Given the description of an element on the screen output the (x, y) to click on. 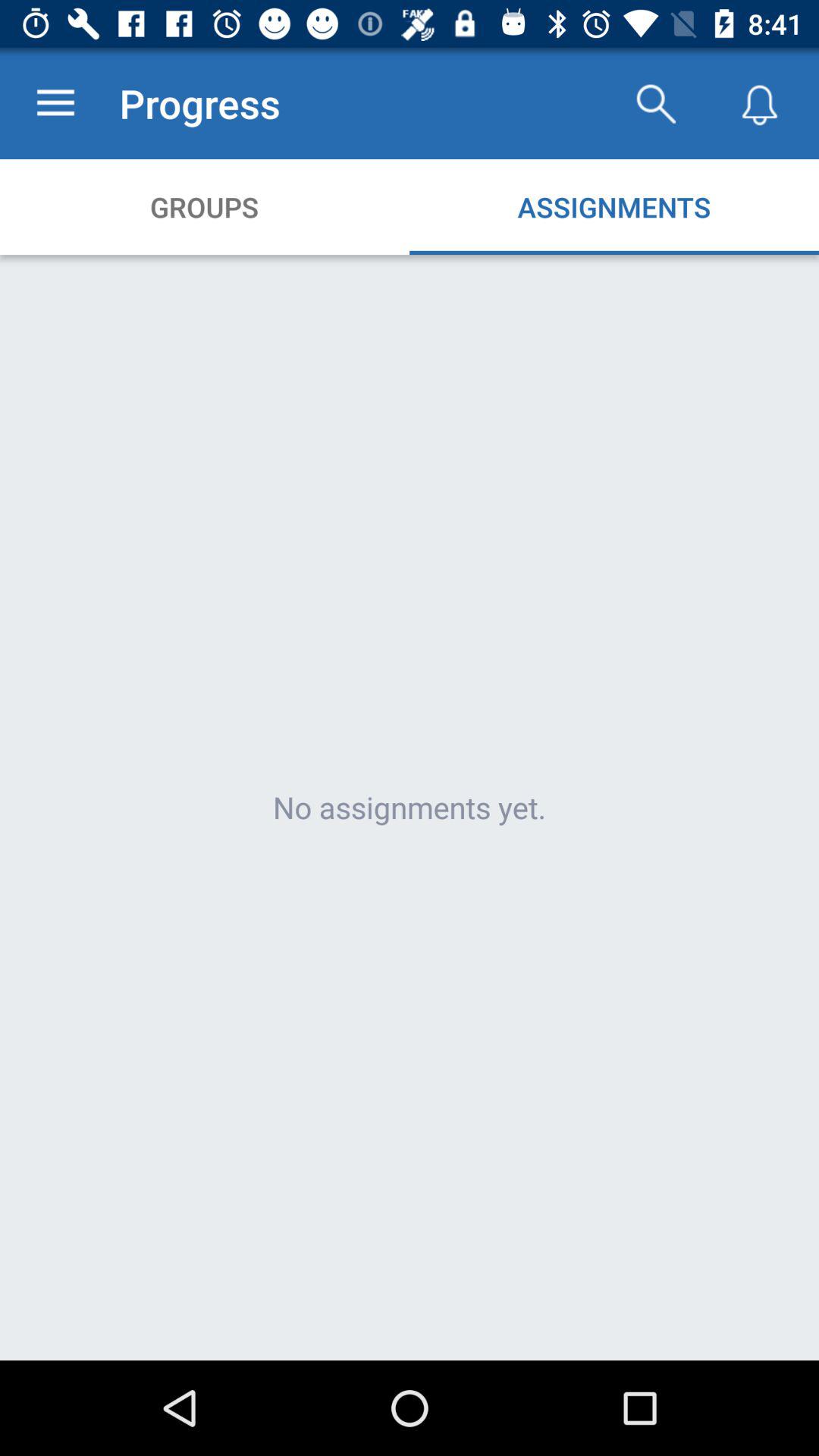
launch item above assignments item (655, 103)
